Given the description of an element on the screen output the (x, y) to click on. 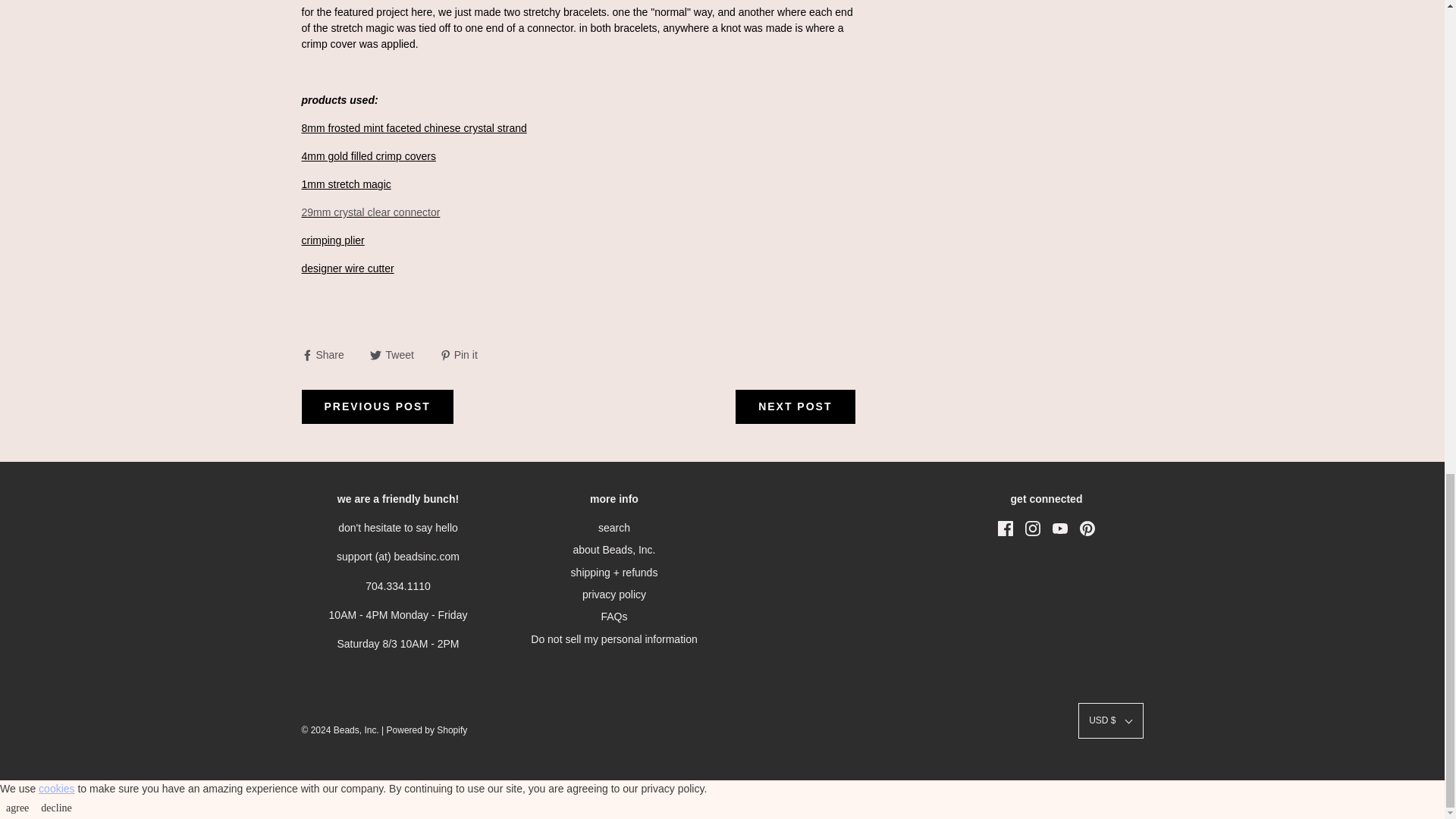
Instagram icon (1033, 528)
YouTube icon (1059, 528)
Facebook icon (1005, 528)
